Given the description of an element on the screen output the (x, y) to click on. 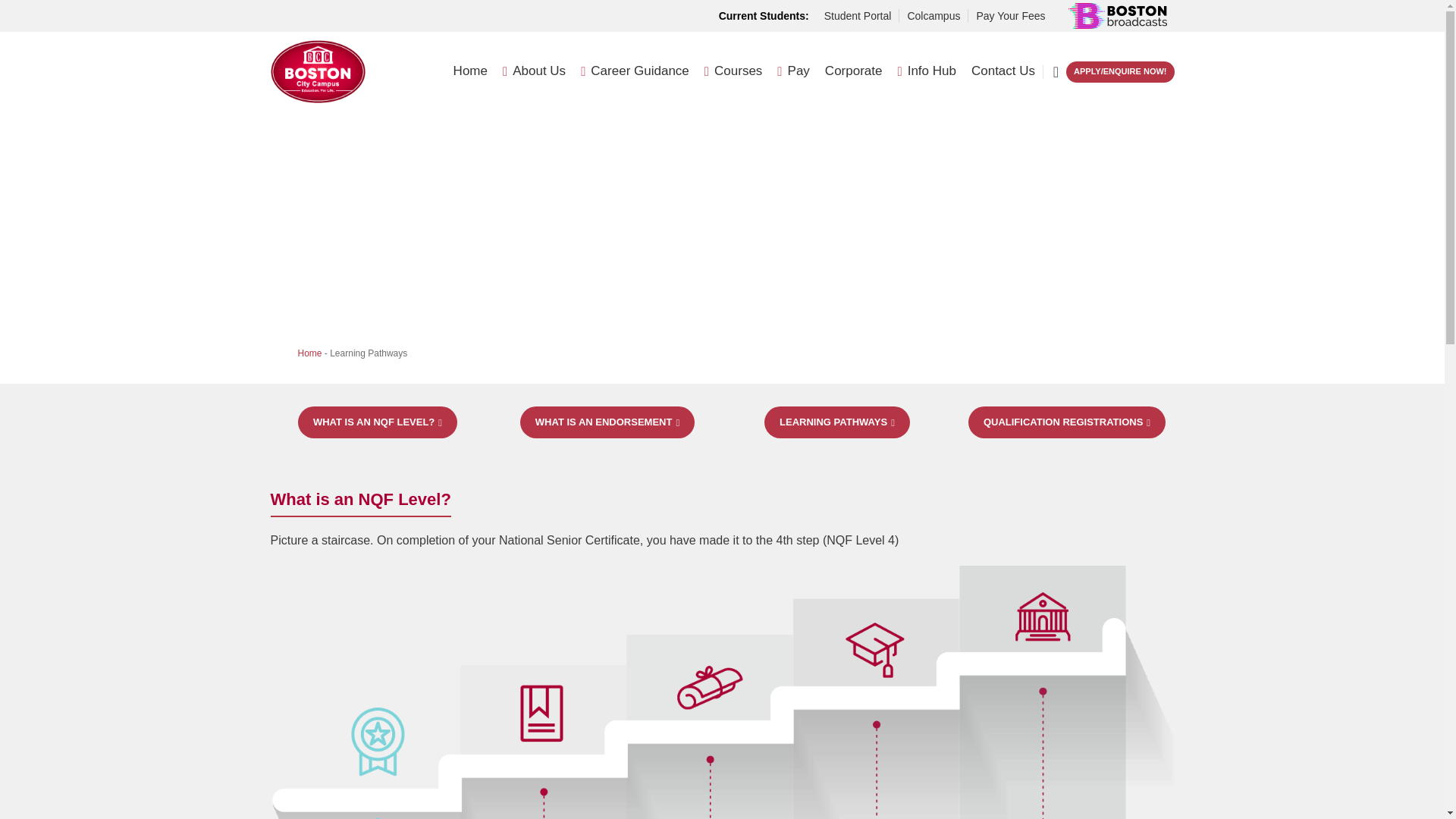
Courses (733, 71)
About Us (534, 71)
Home (469, 71)
Career Guidance (634, 71)
Boston Broadcasts (1116, 15)
Pay Your Fees (1010, 15)
Colcampus (933, 15)
Student Portal (857, 15)
